Given the description of an element on the screen output the (x, y) to click on. 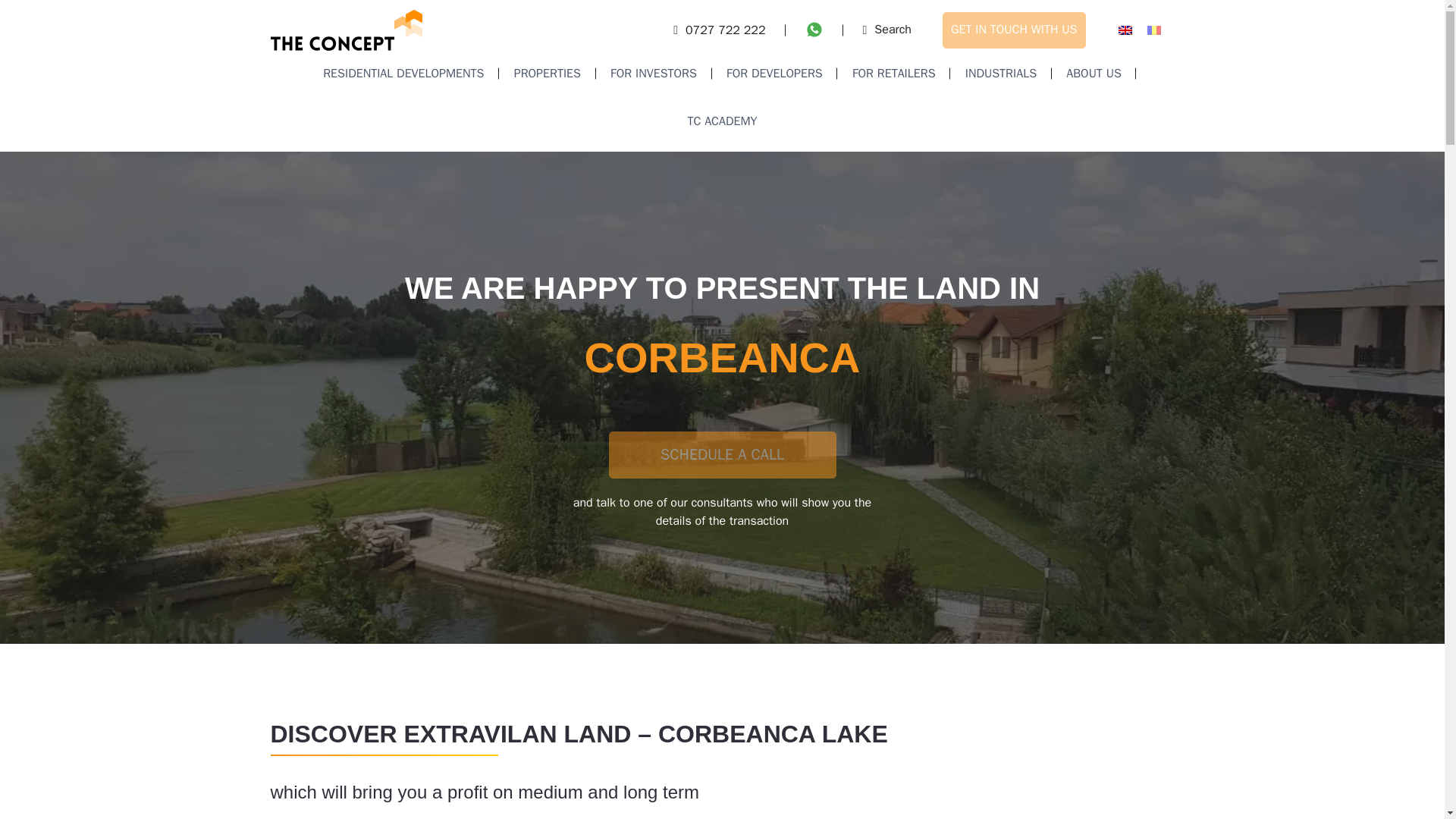
FOR DEVELOPERS (774, 72)
RESIDENTIAL DEVELOPMENTS (403, 72)
GET IN TOUCH WITH US (1014, 30)
FOR INVESTORS (654, 72)
INDUSTRIALS (1000, 72)
TC ACADEMY (721, 120)
0727 722 222 (719, 29)
PROPERTIES (547, 72)
FOR RETAILERS (893, 72)
ABOUT US (1094, 72)
